Given the description of an element on the screen output the (x, y) to click on. 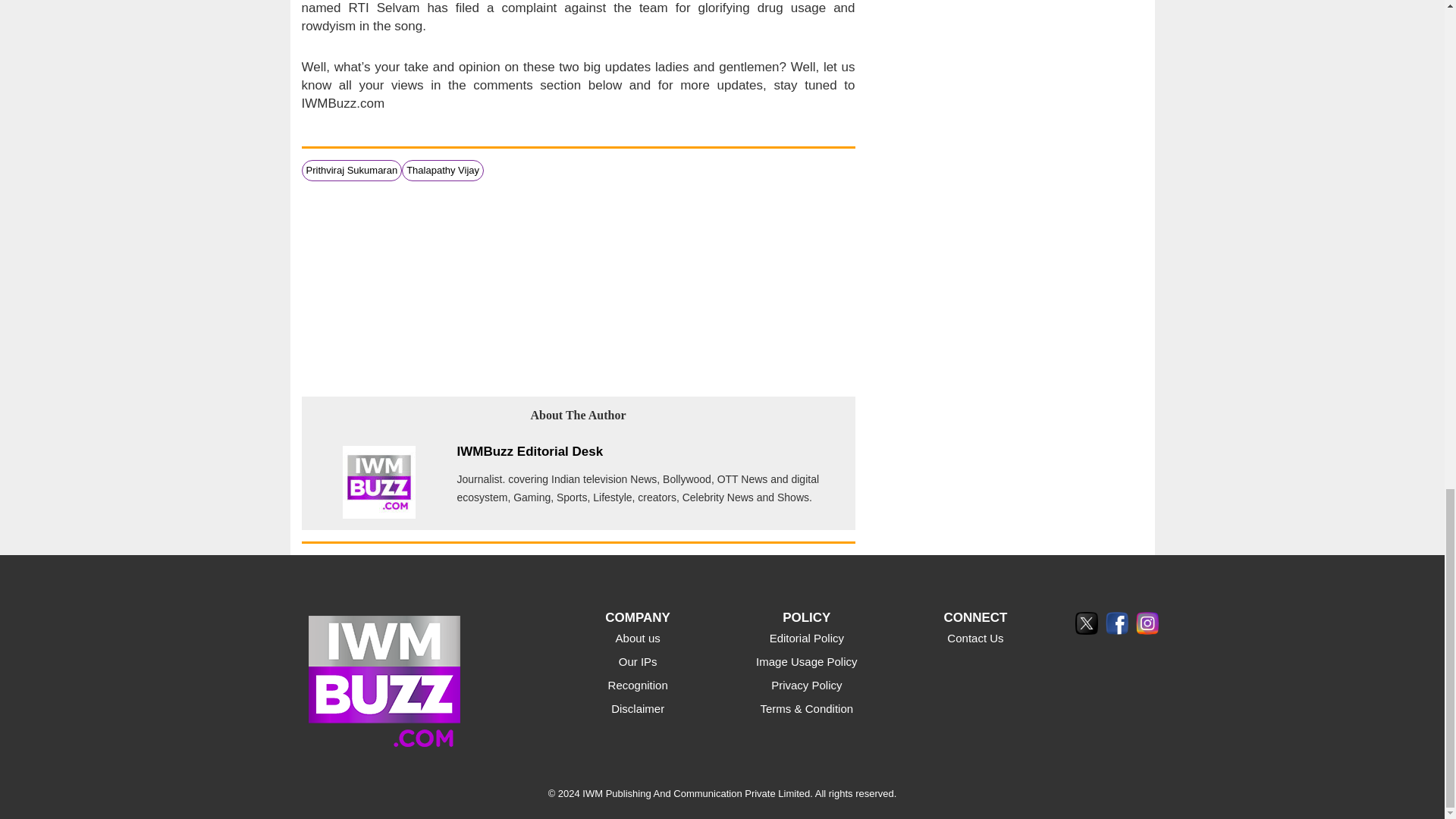
Prithviraj Sukumaran (351, 170)
3rd party ad content (577, 287)
Thalapathy Vijay (442, 170)
IWMBuzz Editorial Desk (529, 451)
